Given the description of an element on the screen output the (x, y) to click on. 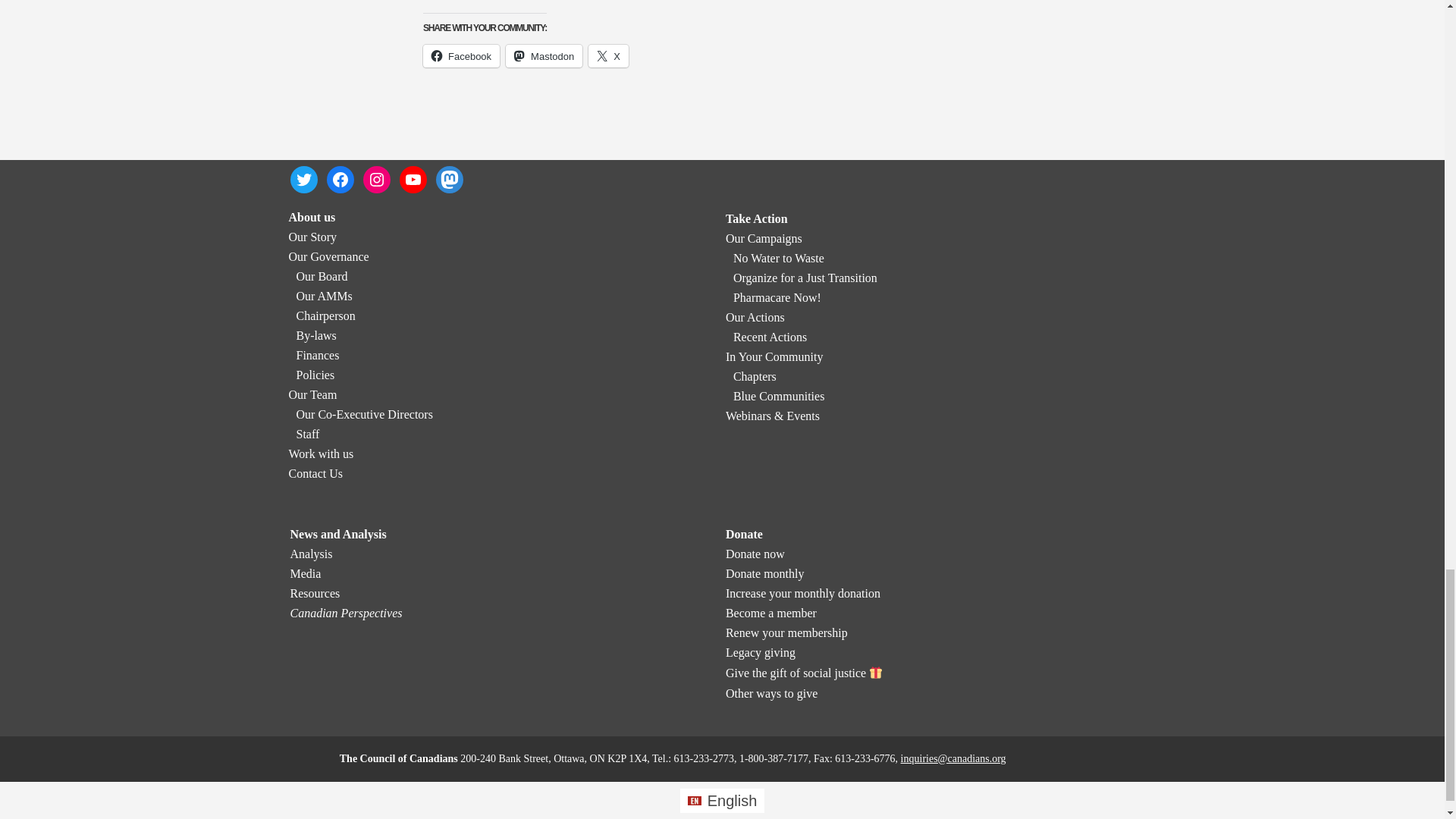
Click to share on Mastodon (543, 56)
Click to share on X (608, 56)
Mastodon (543, 56)
Click to share on Facebook (461, 56)
X (608, 56)
Facebook (461, 56)
